Given the description of an element on the screen output the (x, y) to click on. 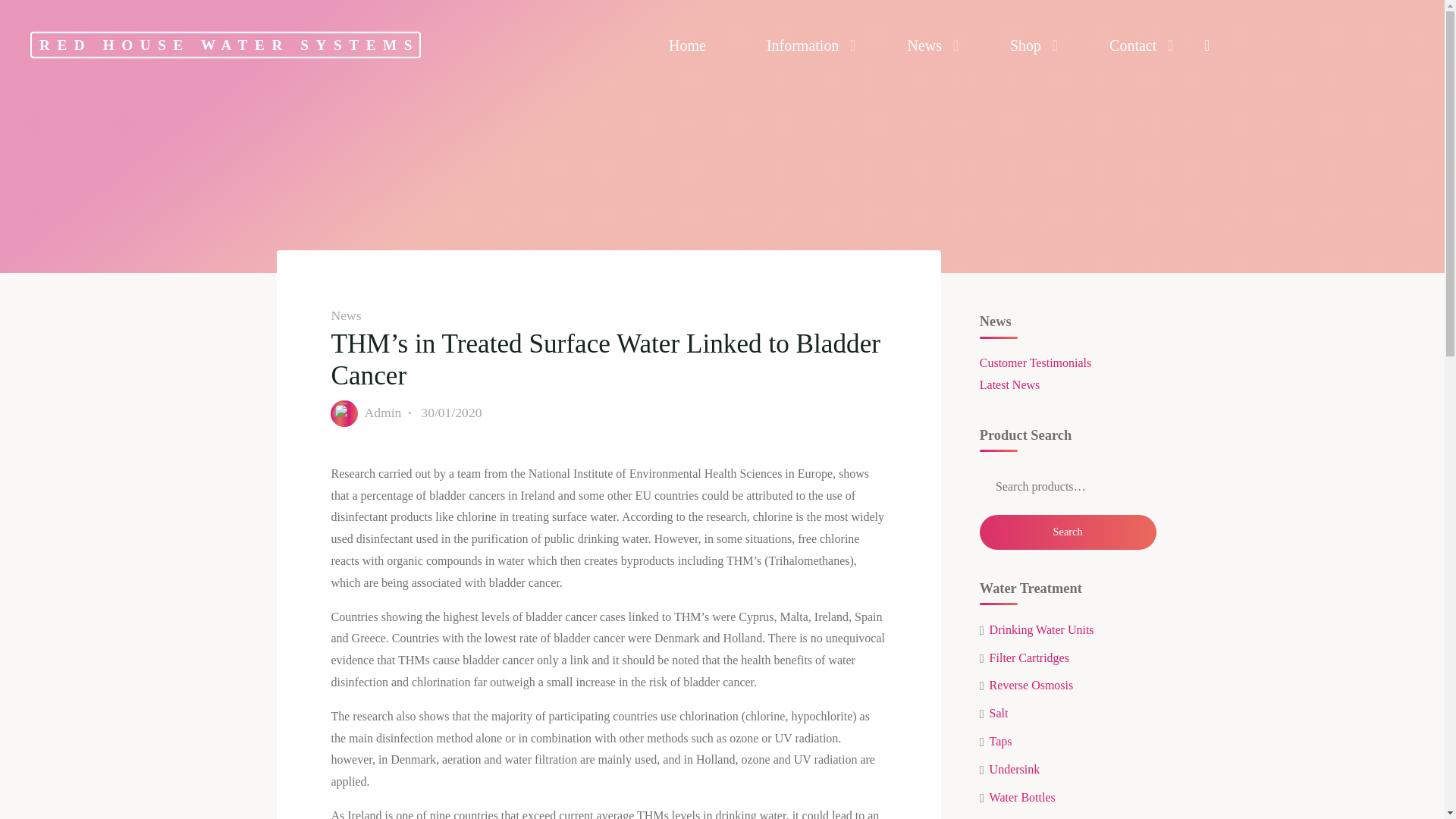
RED HOUSE WATER SYSTEMS (225, 44)
News (927, 45)
Home (687, 45)
Delivering Pure, Safe Water (225, 44)
Information (806, 45)
View all posts by Admin (382, 412)
